Given the description of an element on the screen output the (x, y) to click on. 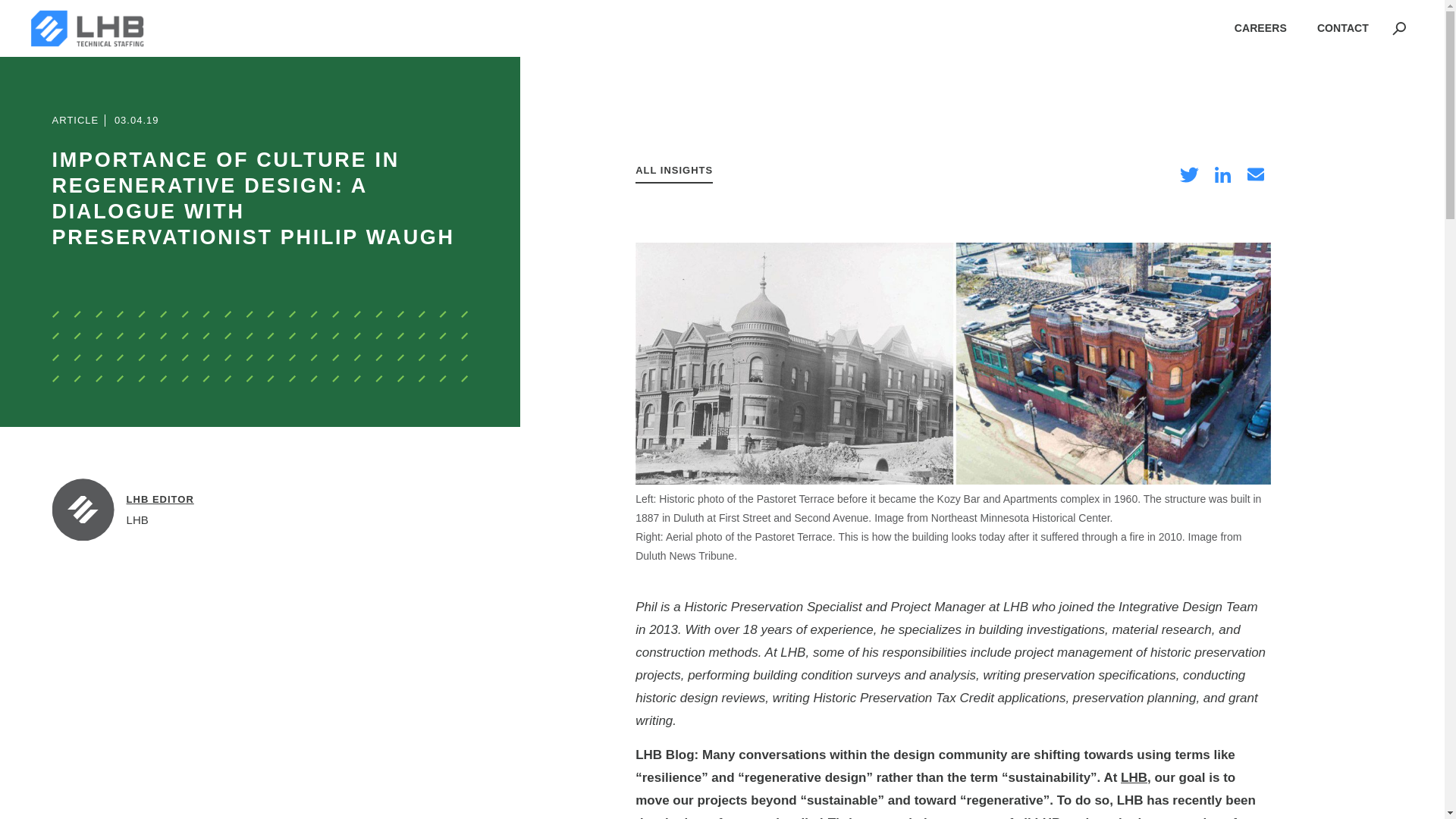
Share on Twitter (1188, 173)
ALL INSIGHTS (673, 174)
CAREERS (1260, 28)
Search (1126, 125)
Home page (87, 28)
CONTACT (1342, 28)
Share on LinkedIn (1222, 173)
Share via Email (1255, 173)
LHB EDITOR (159, 499)
Thrive (845, 817)
